Given the description of an element on the screen output the (x, y) to click on. 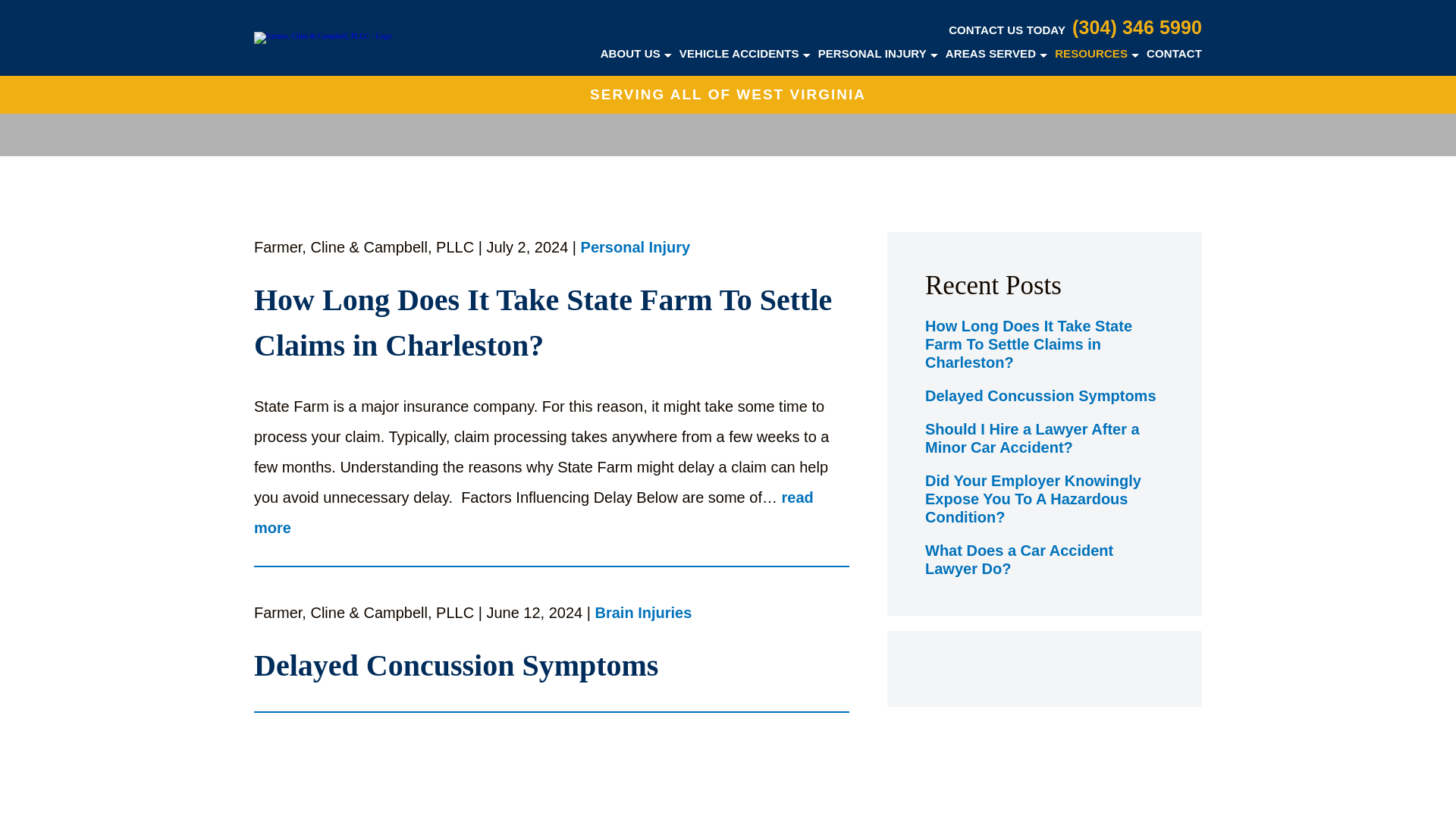
Personal Injury (635, 248)
Brain Injuries (644, 613)
read more (533, 513)
GET A FREE CONSULTATION (727, 82)
Delayed Concussion Symptoms (550, 665)
